Given the description of an element on the screen output the (x, y) to click on. 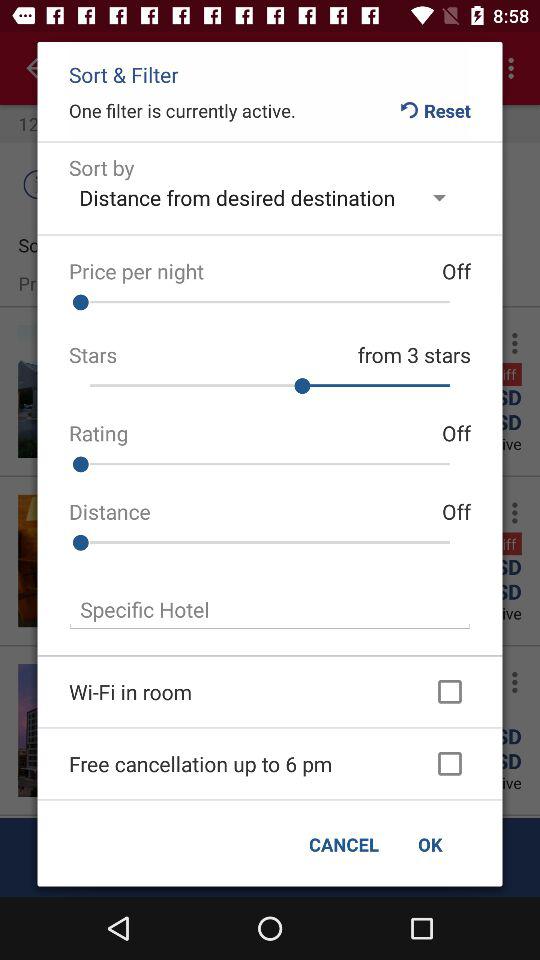
filter to specific hotel (270, 609)
